Given the description of an element on the screen output the (x, y) to click on. 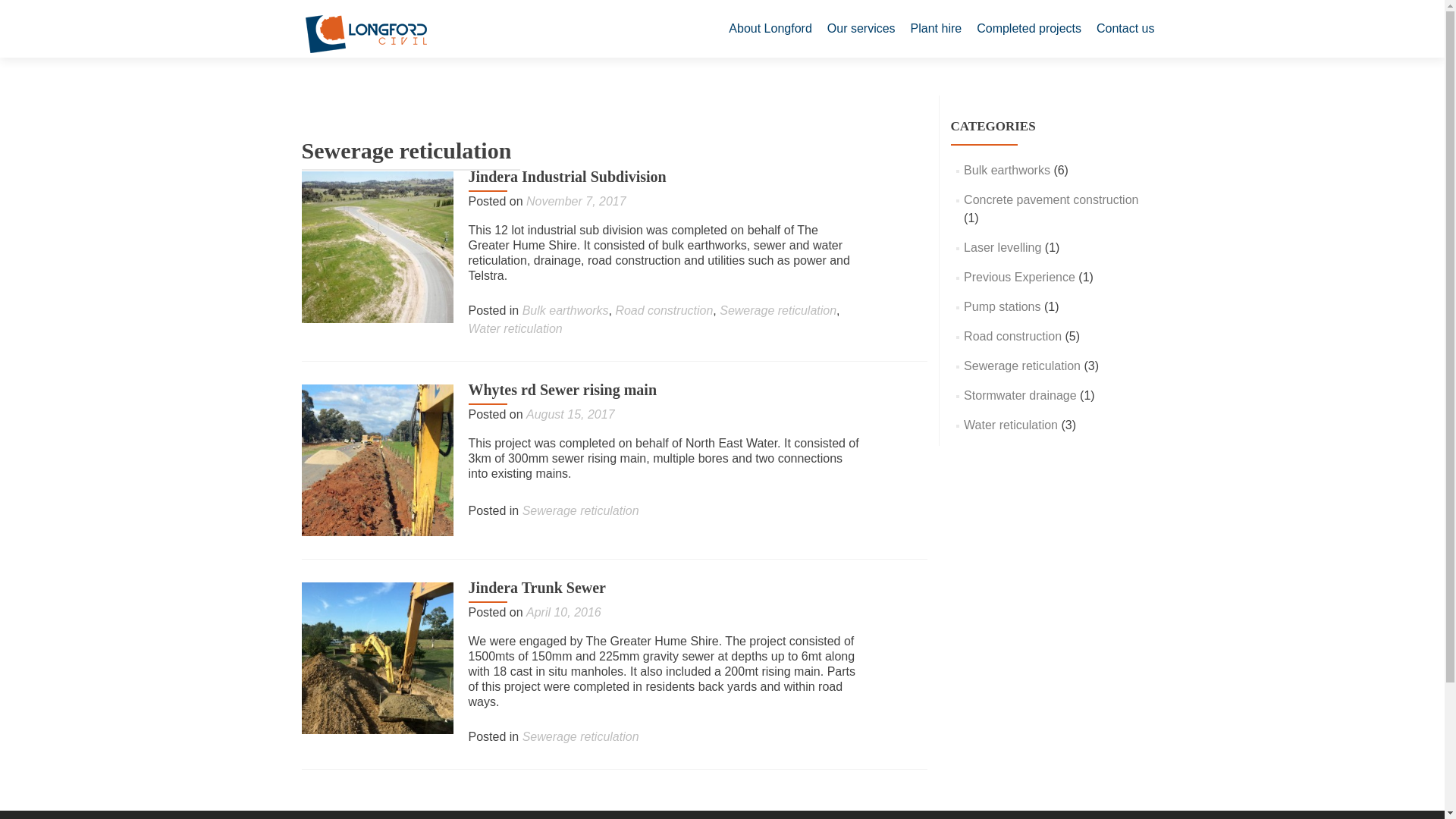
Concrete pavement construction (1050, 199)
August 15, 2017 (569, 413)
Sewerage reticulation (1021, 365)
Pump stations (1002, 306)
Whytes rd Sewer rising main (376, 460)
Water reticulation (515, 328)
Sewerage reticulation (580, 510)
Sewerage reticulation (777, 309)
Laser levelling (1002, 246)
November 7, 2017 (575, 201)
Bulk earthworks (565, 309)
Our services (861, 28)
Stormwater drainage (1020, 395)
Jindera Trunk Sewer (376, 657)
Road construction (663, 309)
